Given the description of an element on the screen output the (x, y) to click on. 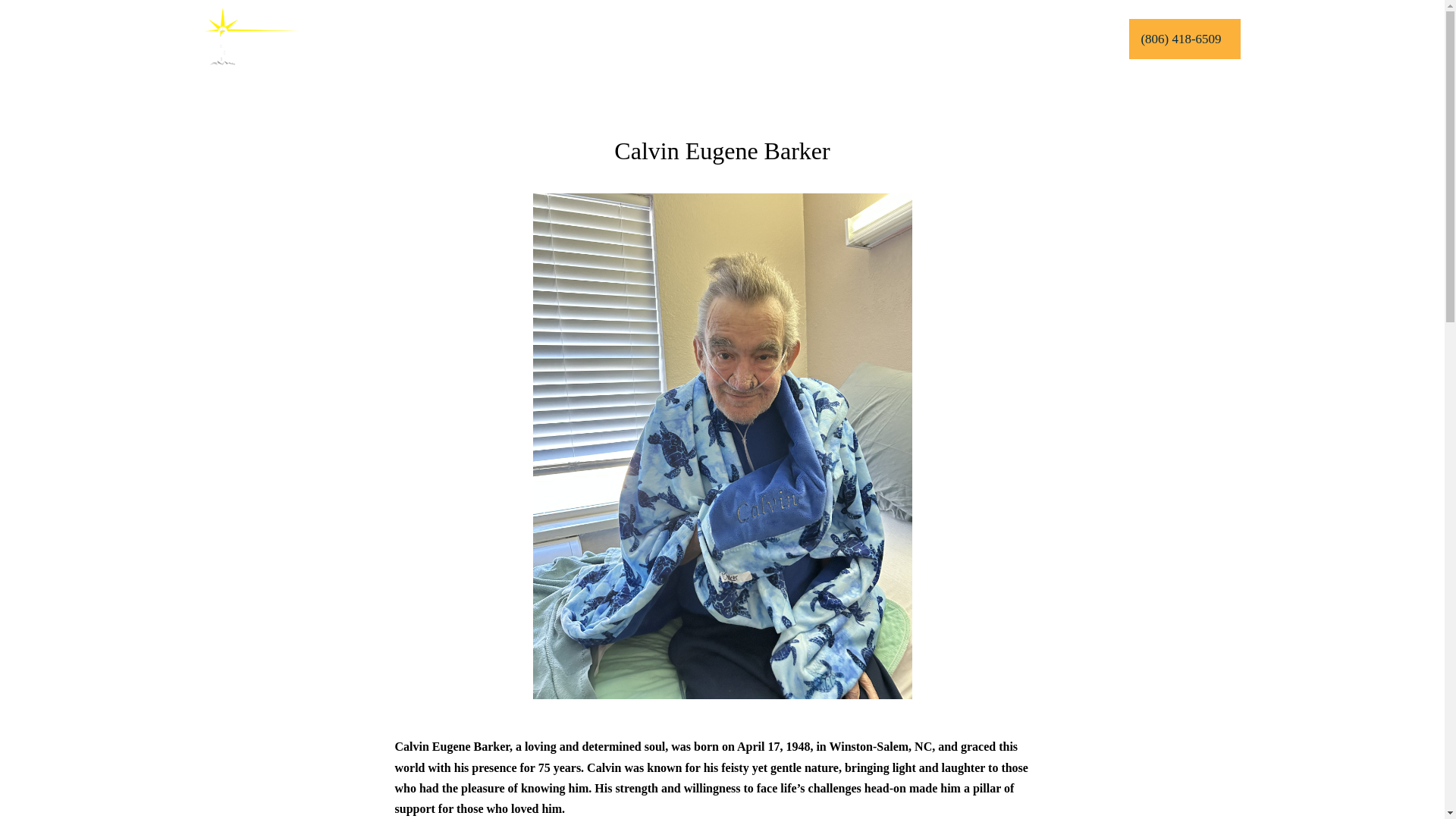
Services (470, 38)
Pricing (788, 38)
Urn Store (730, 38)
Contact (846, 38)
About (531, 38)
Send Flowers (661, 38)
Obituaries (591, 38)
FUNERAL LENDING (1056, 38)
